Given the description of an element on the screen output the (x, y) to click on. 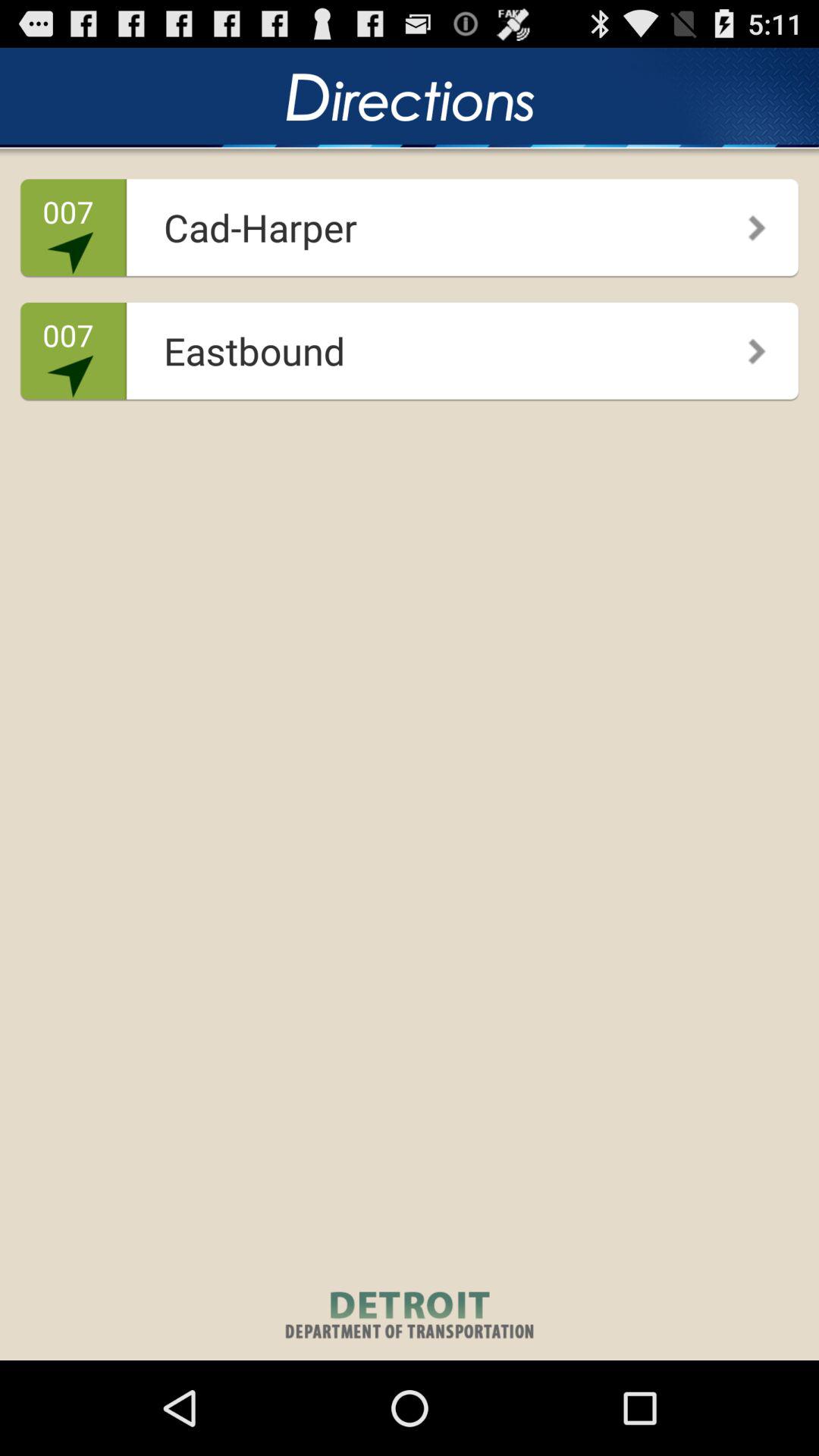
select the icon to the right of the 007 icon (404, 345)
